Given the description of an element on the screen output the (x, y) to click on. 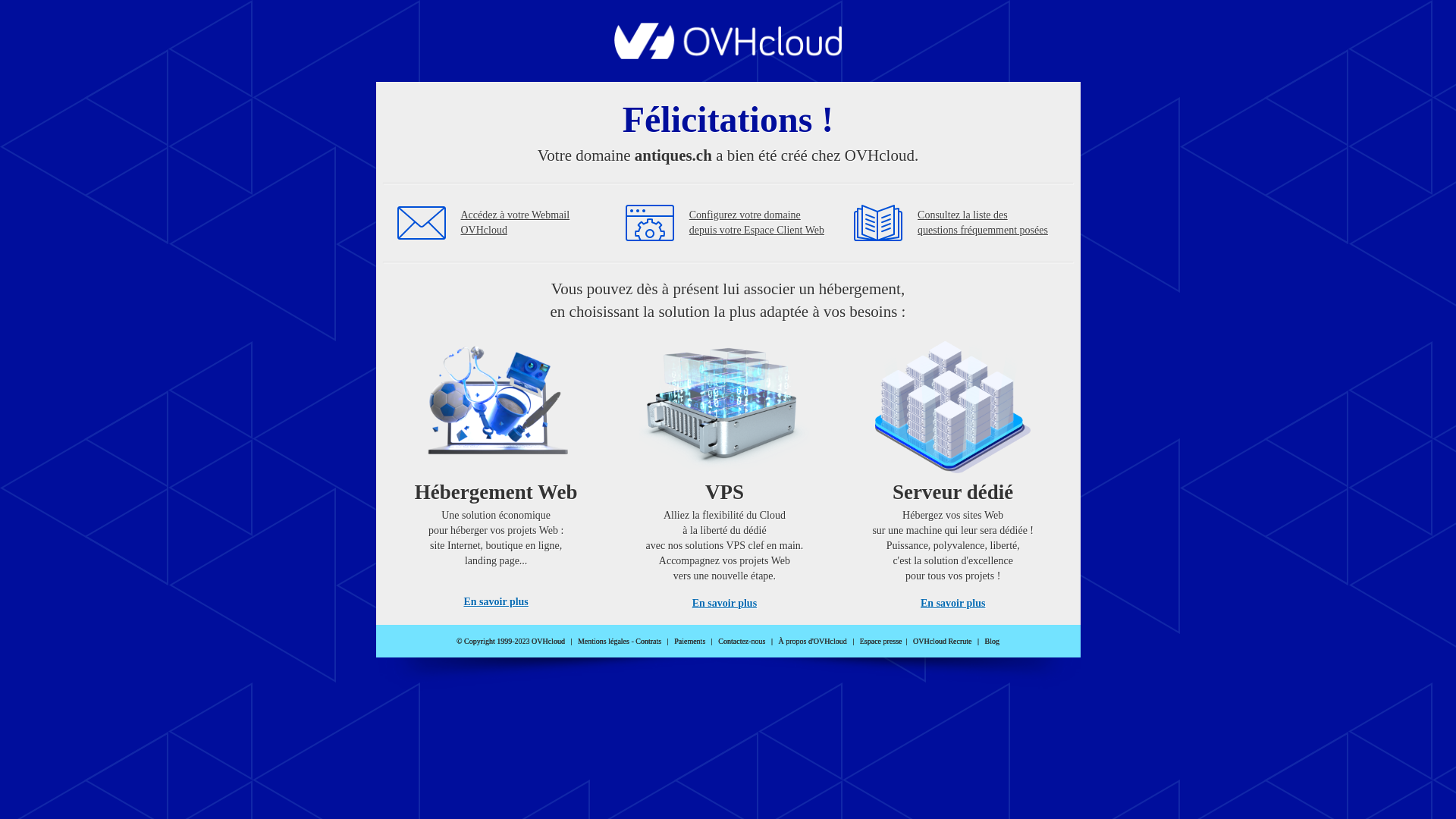
Blog Element type: text (992, 641)
Configurez votre domaine
depuis votre Espace Client Web Element type: text (756, 222)
OVHcloud Element type: hover (727, 54)
En savoir plus Element type: text (724, 602)
Paiements Element type: text (689, 641)
En savoir plus Element type: text (952, 602)
VPS Element type: hover (724, 469)
Espace presse Element type: text (880, 641)
OVHcloud Recrute Element type: text (942, 641)
Contactez-nous Element type: text (741, 641)
En savoir plus Element type: text (495, 601)
